Given the description of an element on the screen output the (x, y) to click on. 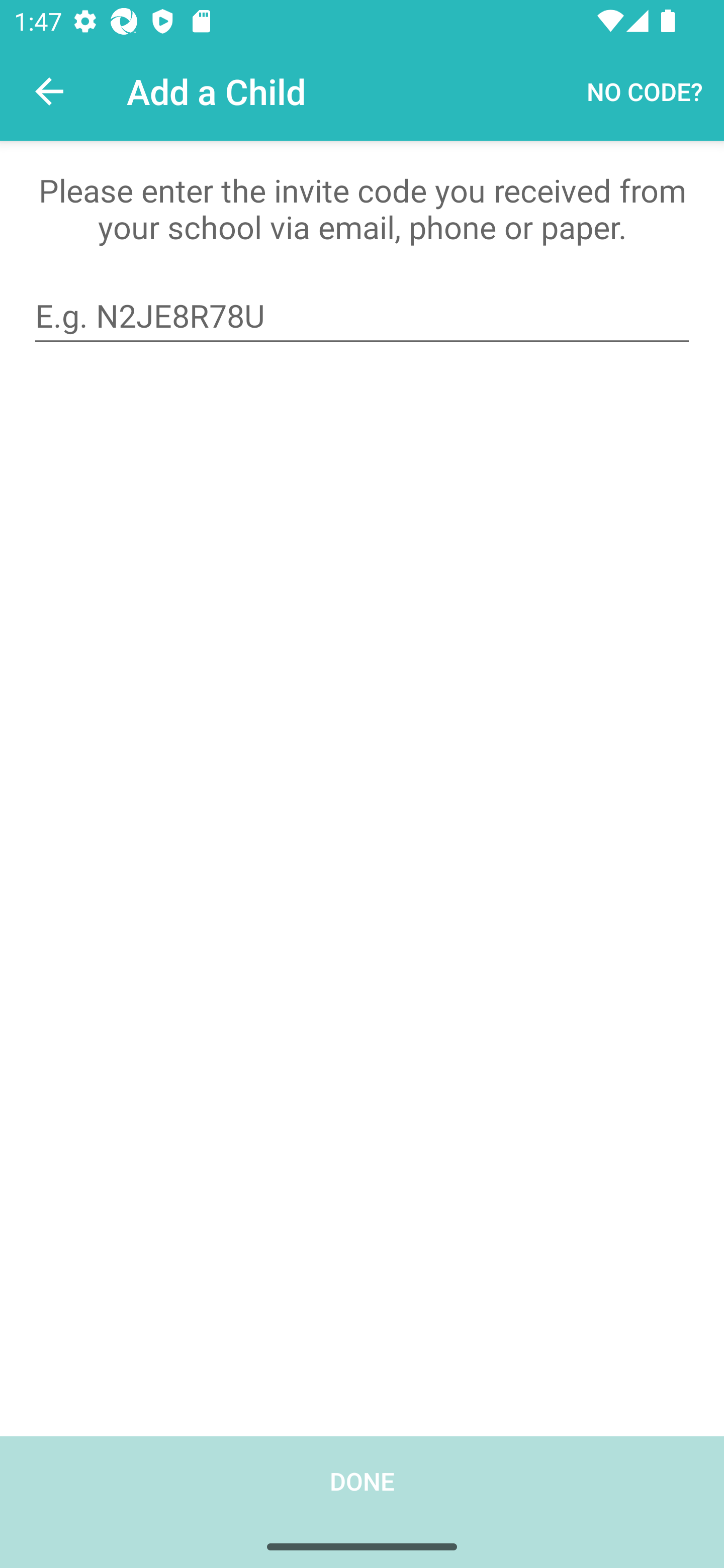
Navigate up (49, 91)
NO CODE? (644, 90)
E.g. N2JE8R78U (361, 315)
DONE (362, 1502)
